Given the description of an element on the screen output the (x, y) to click on. 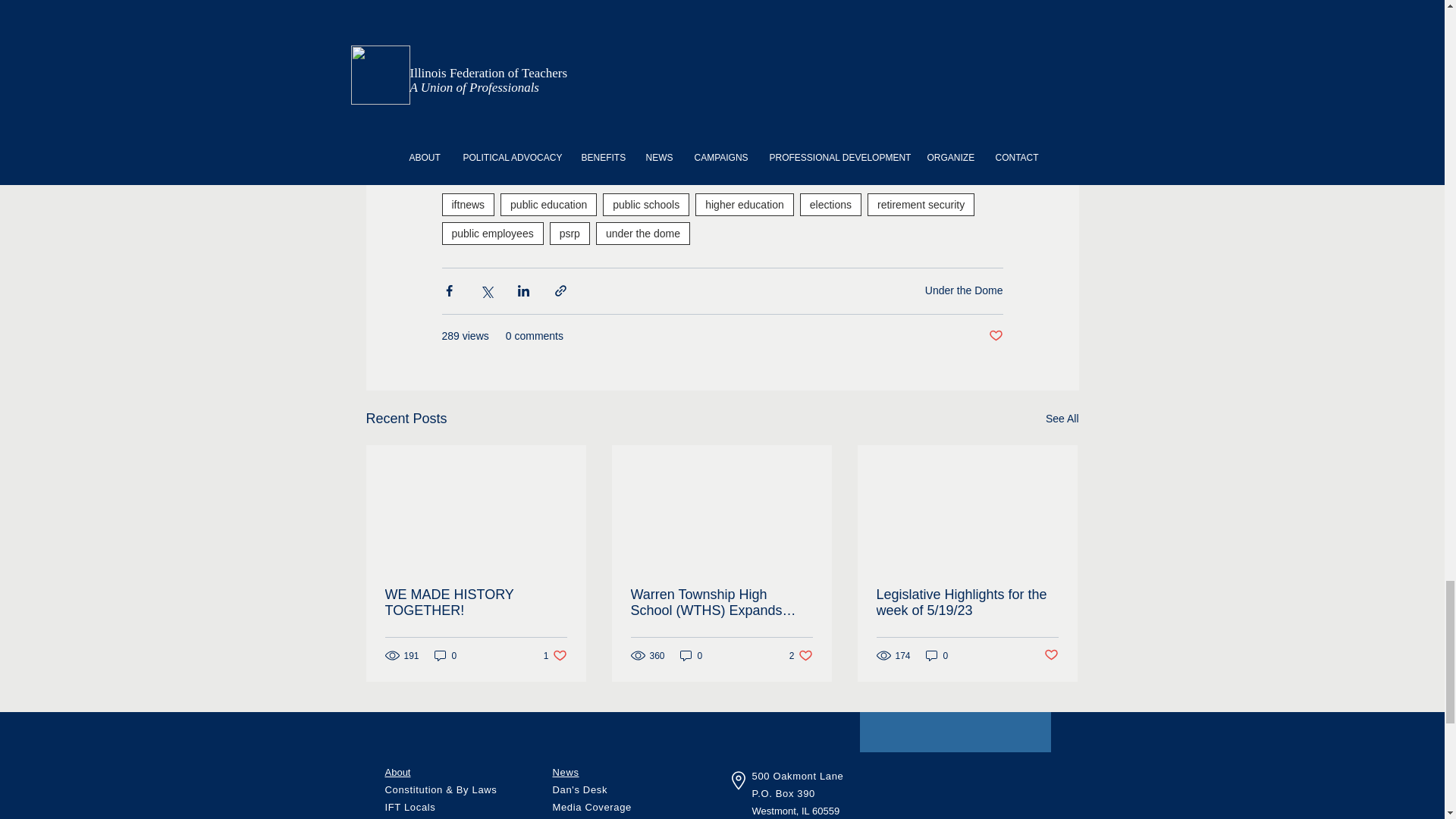
iftnews (468, 203)
higher education (744, 203)
public schools (645, 203)
Under the Dome (558, 133)
psrp (569, 232)
retirement security (920, 203)
elections (830, 203)
under the dome (642, 232)
public employees (492, 232)
public education (548, 203)
